Given the description of an element on the screen output the (x, y) to click on. 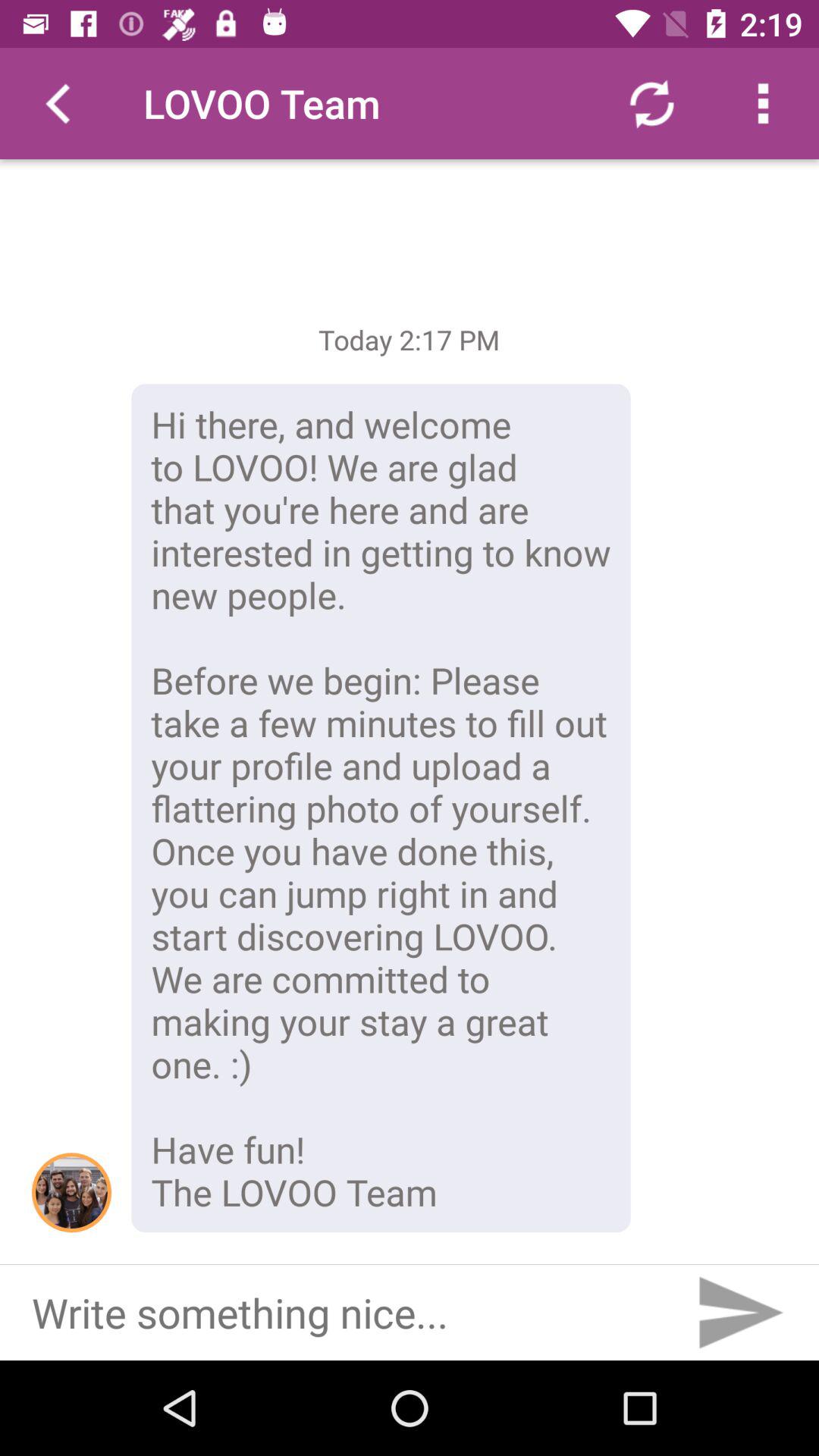
previous screen (55, 103)
